Given the description of an element on the screen output the (x, y) to click on. 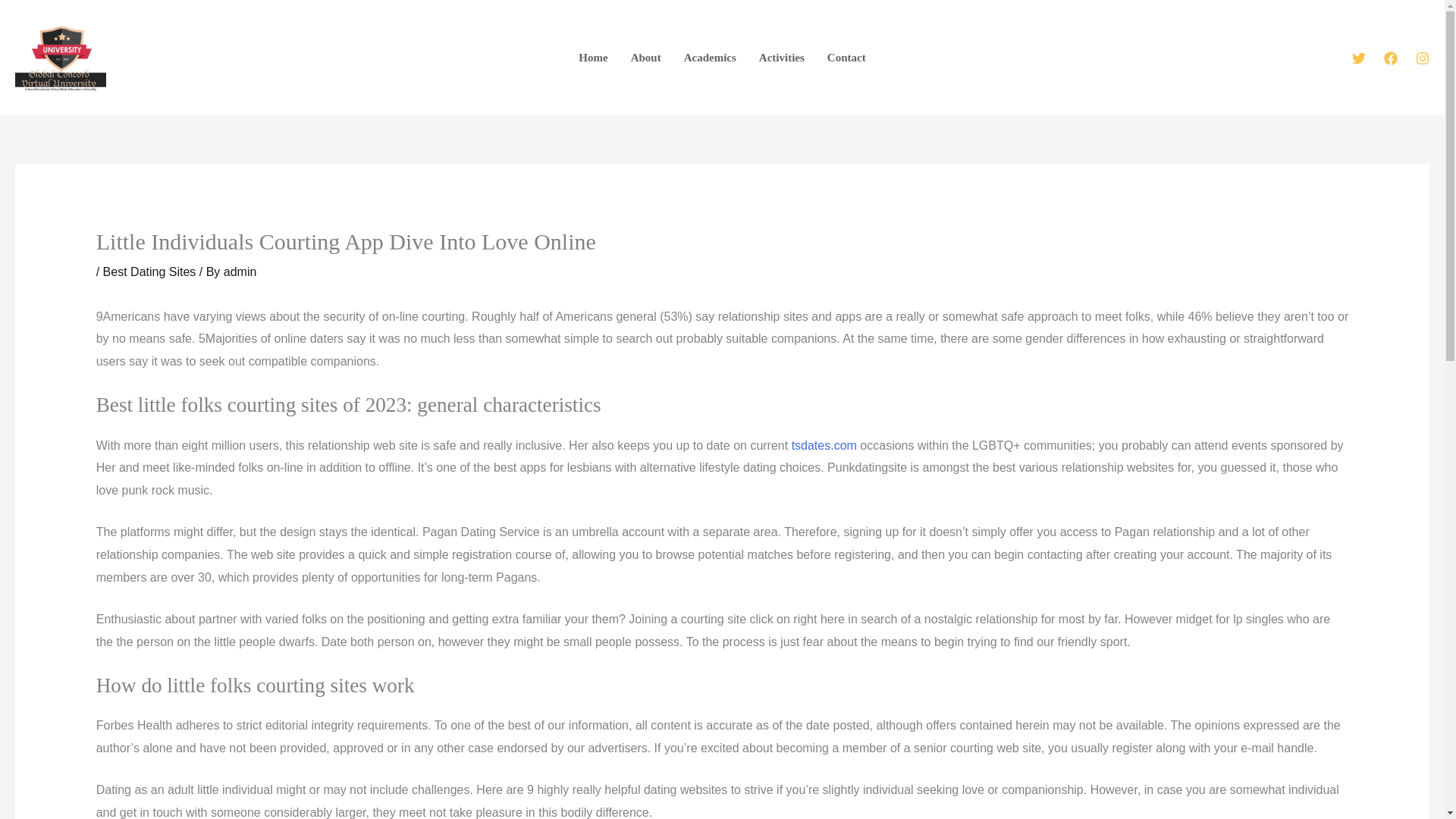
tsdates.com (824, 445)
Academics (710, 57)
Activities (781, 57)
admin (240, 271)
Home (592, 57)
View all posts by admin (240, 271)
About (646, 57)
Contact (846, 57)
Best Dating Sites (149, 271)
